Given the description of an element on the screen output the (x, y) to click on. 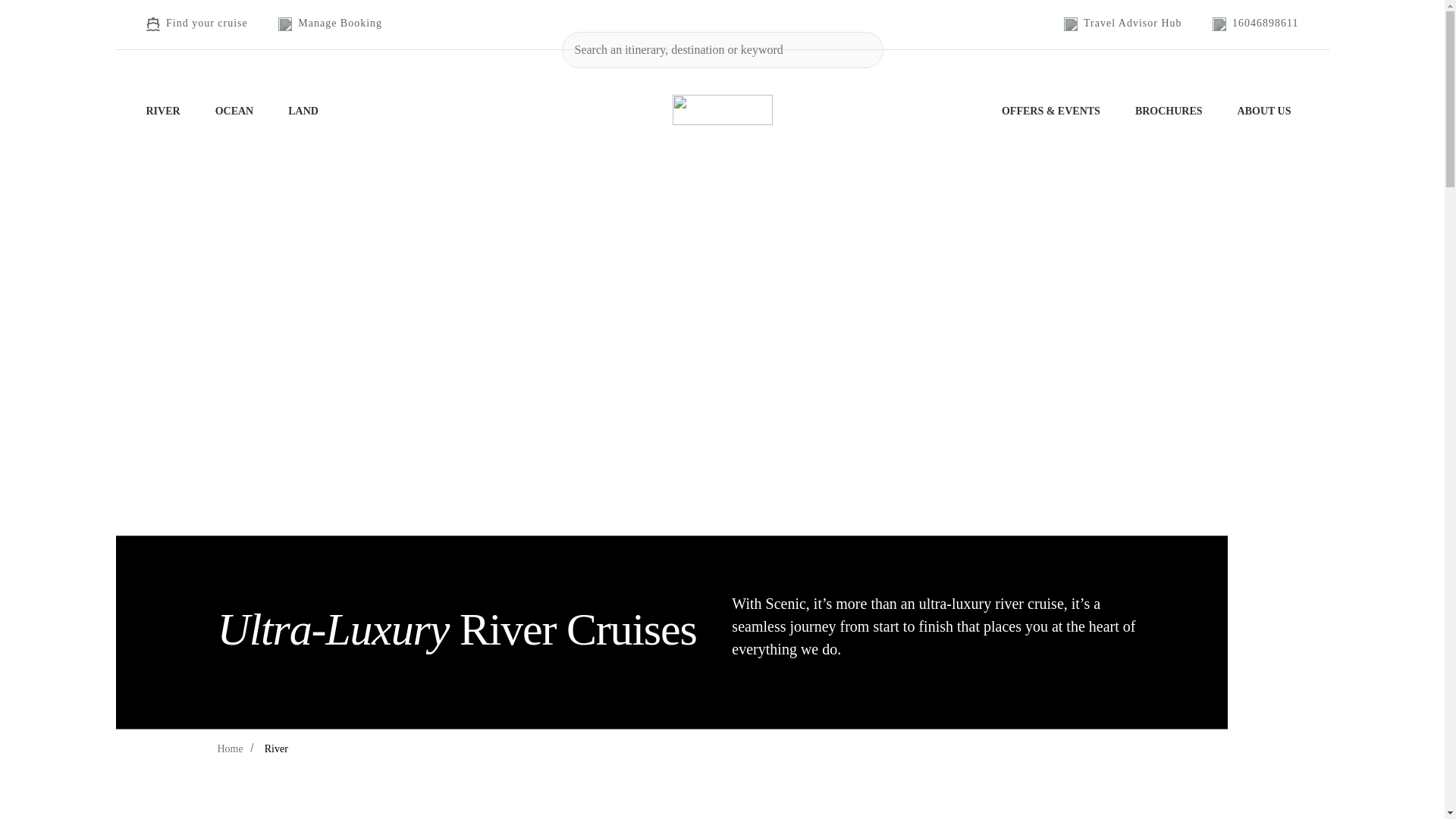
Travel Advisor Hub (1123, 24)
Manage Booking (329, 24)
Find your cruise (196, 24)
